Given the description of an element on the screen output the (x, y) to click on. 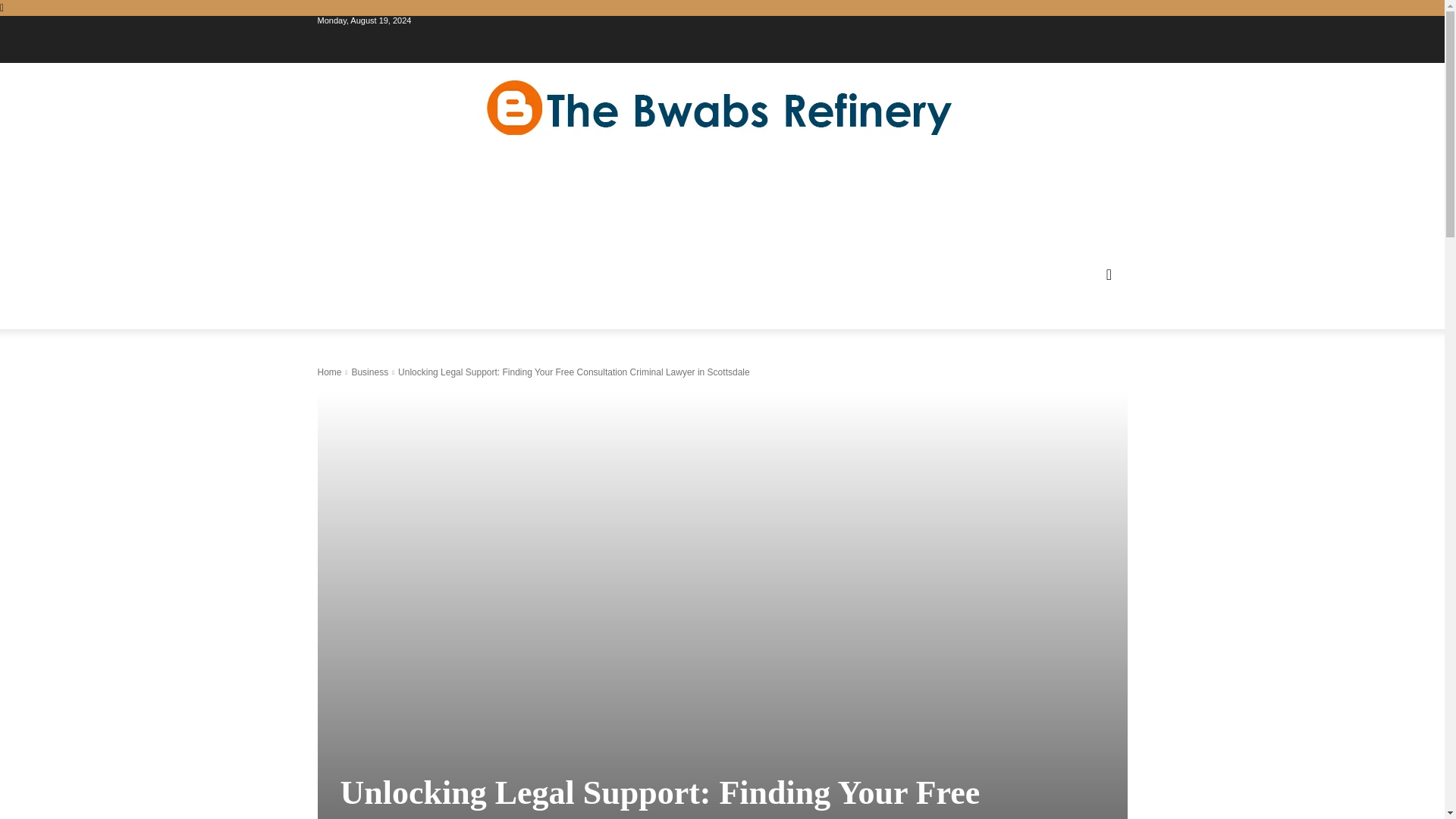
Business (369, 371)
Home (328, 371)
View all posts in Business (369, 371)
